Given the description of an element on the screen output the (x, y) to click on. 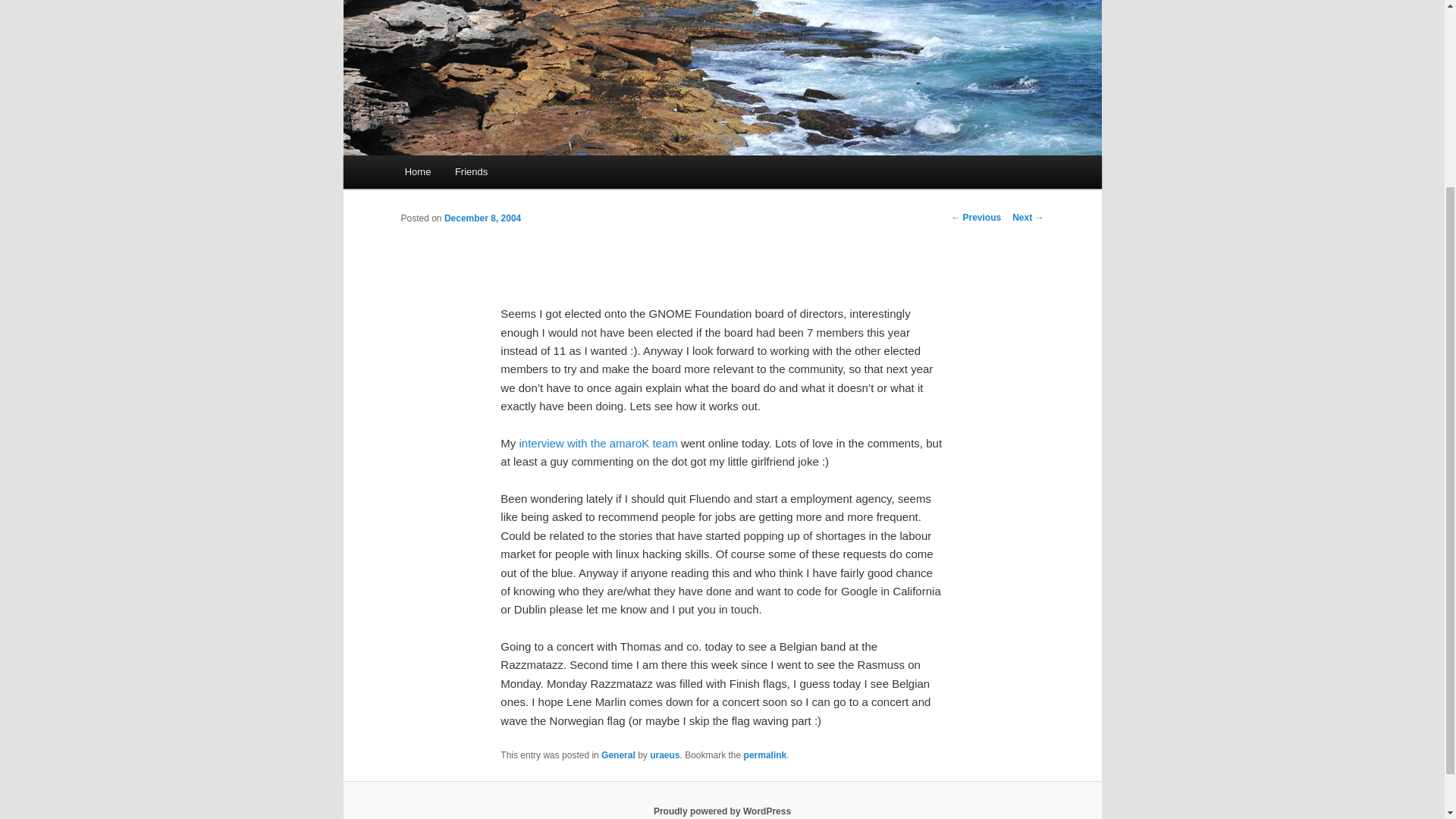
Permalink to  (765, 755)
interview with the amaroK team (598, 442)
December 8, 2004 (482, 217)
Friends (470, 171)
Semantic Personal Publishing Platform (721, 810)
Home (417, 171)
General (617, 755)
uraeus (664, 755)
permalink (765, 755)
10:23 (482, 217)
Proudly powered by WordPress (721, 810)
